Given the description of an element on the screen output the (x, y) to click on. 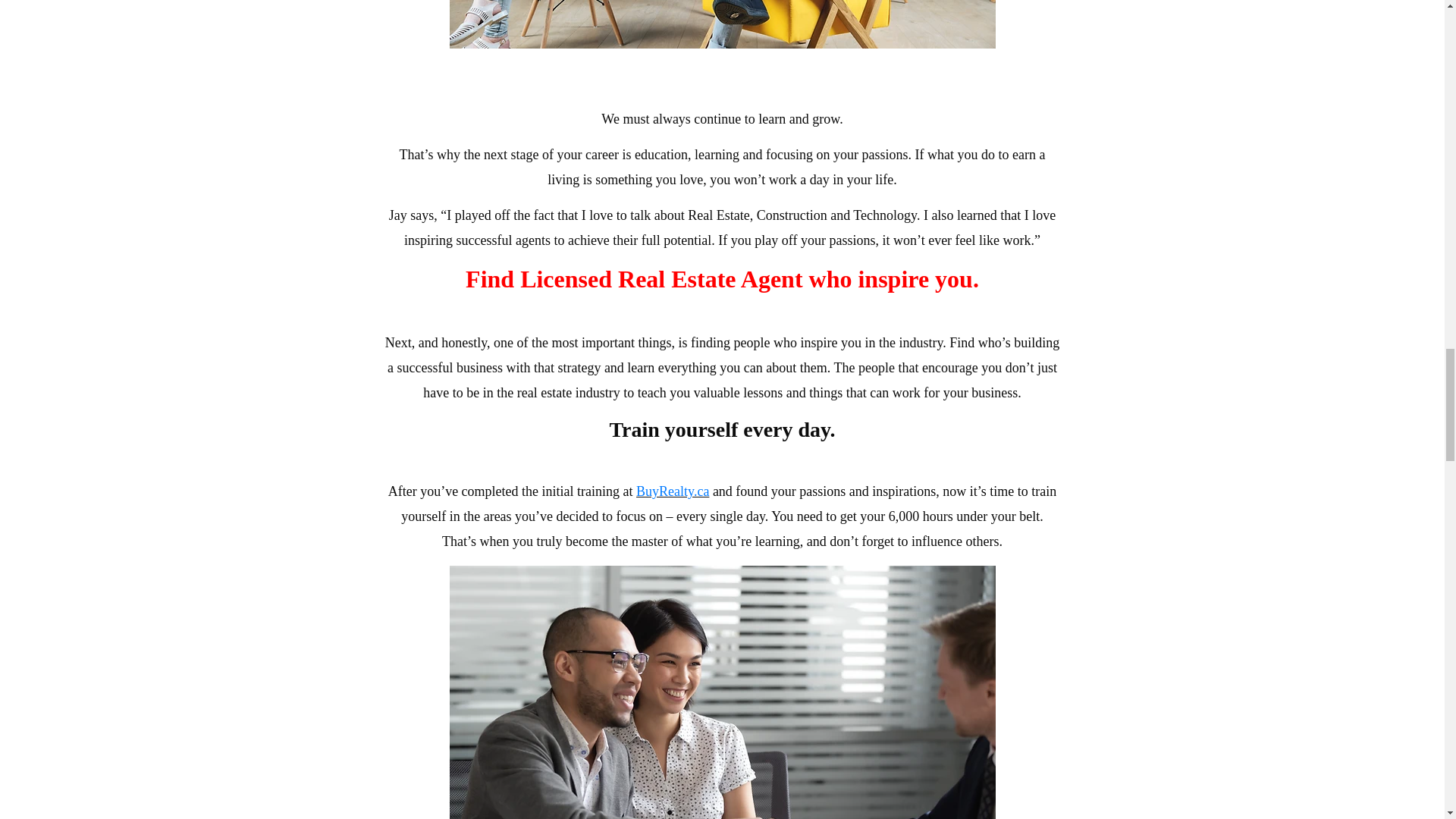
BuyRealty.ca (672, 491)
